Given the description of an element on the screen output the (x, y) to click on. 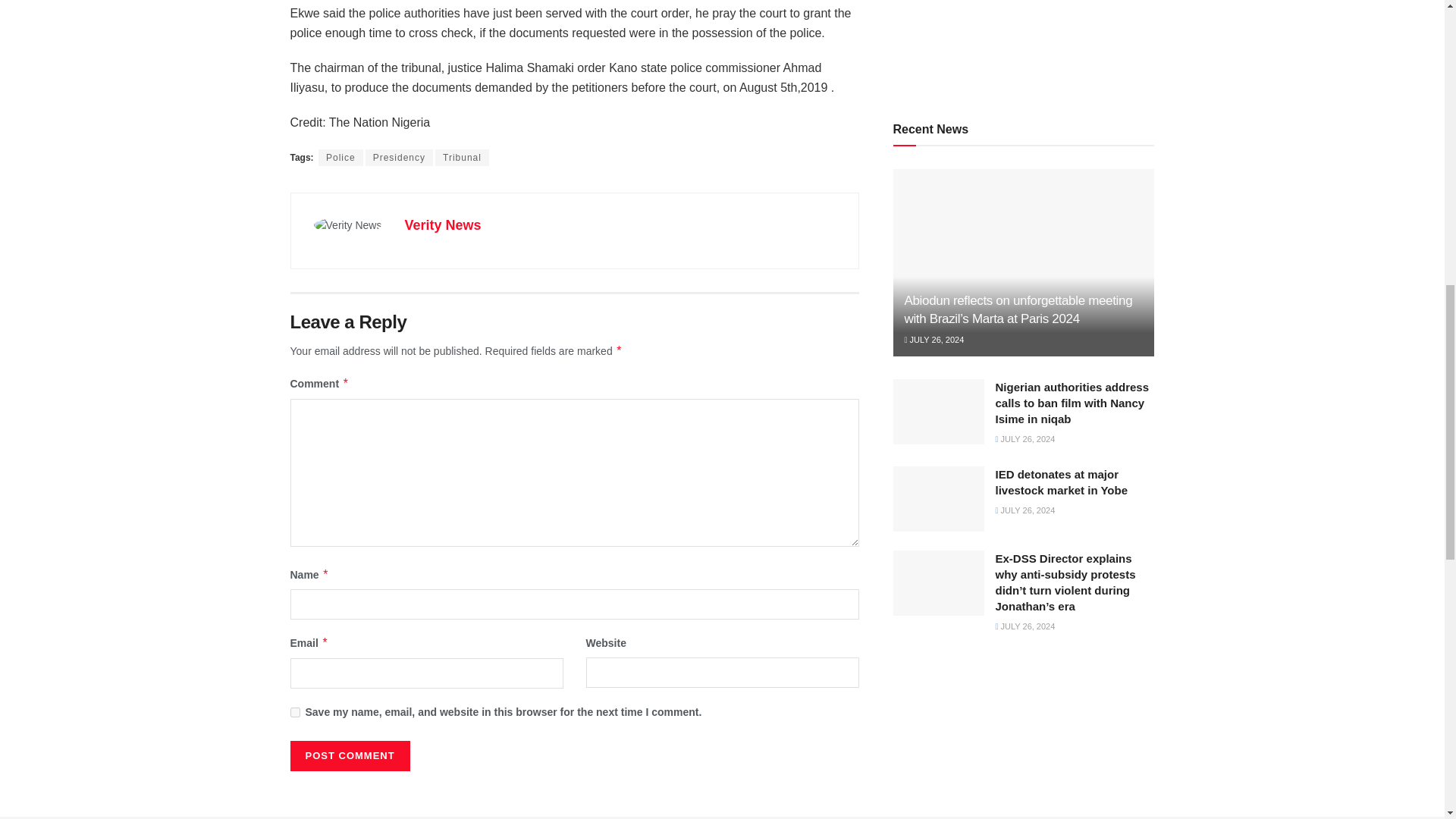
Post Comment (349, 756)
yes (294, 712)
